Given the description of an element on the screen output the (x, y) to click on. 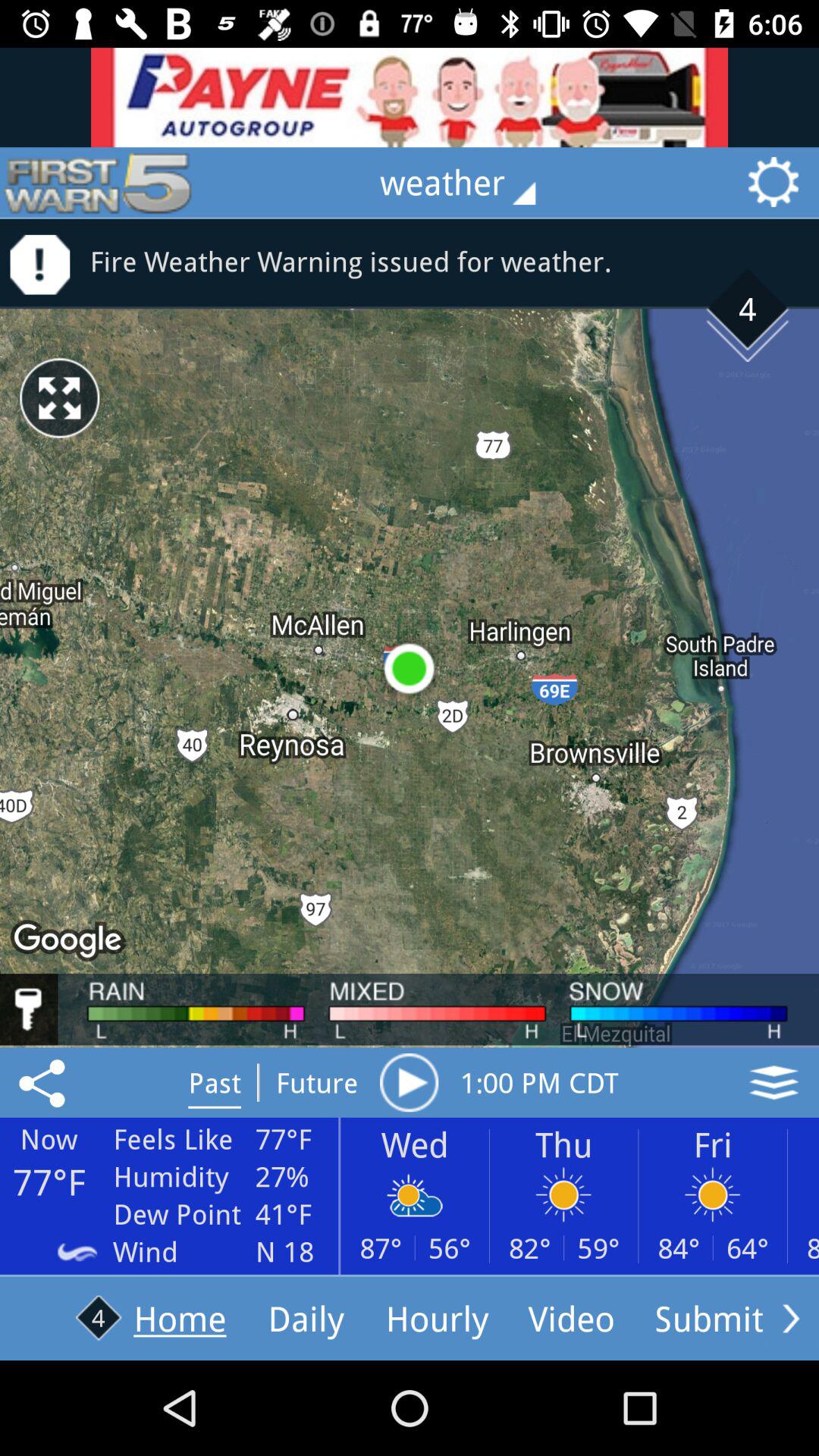
advertisement banner (409, 97)
